Given the description of an element on the screen output the (x, y) to click on. 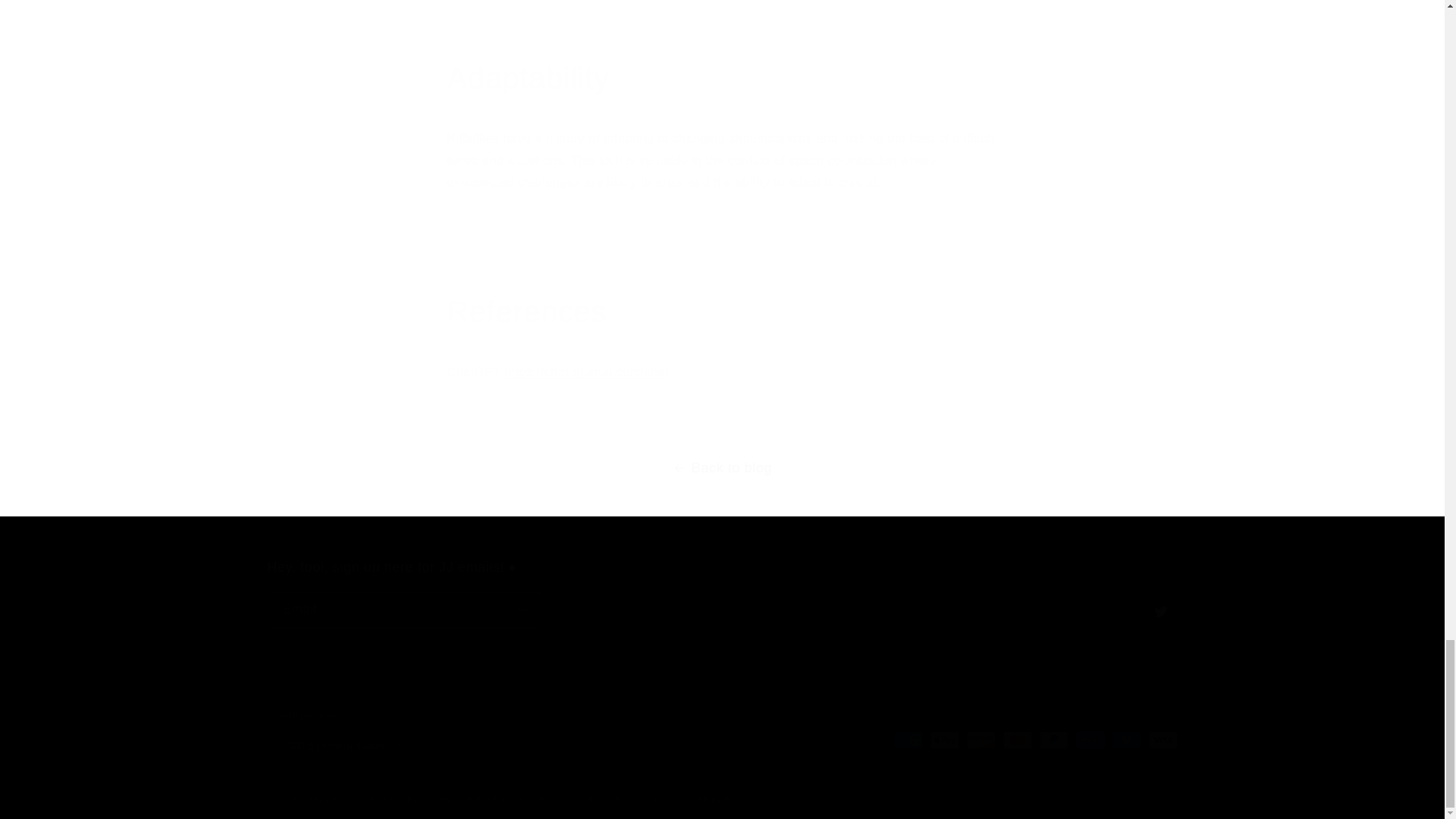
Terms of service (647, 798)
Jangled Jester (333, 798)
Twitter (1159, 611)
Refund policy (495, 798)
Privacy policy (569, 798)
Shipping policy (729, 798)
Powered by Shopify (409, 798)
